Given the description of an element on the screen output the (x, y) to click on. 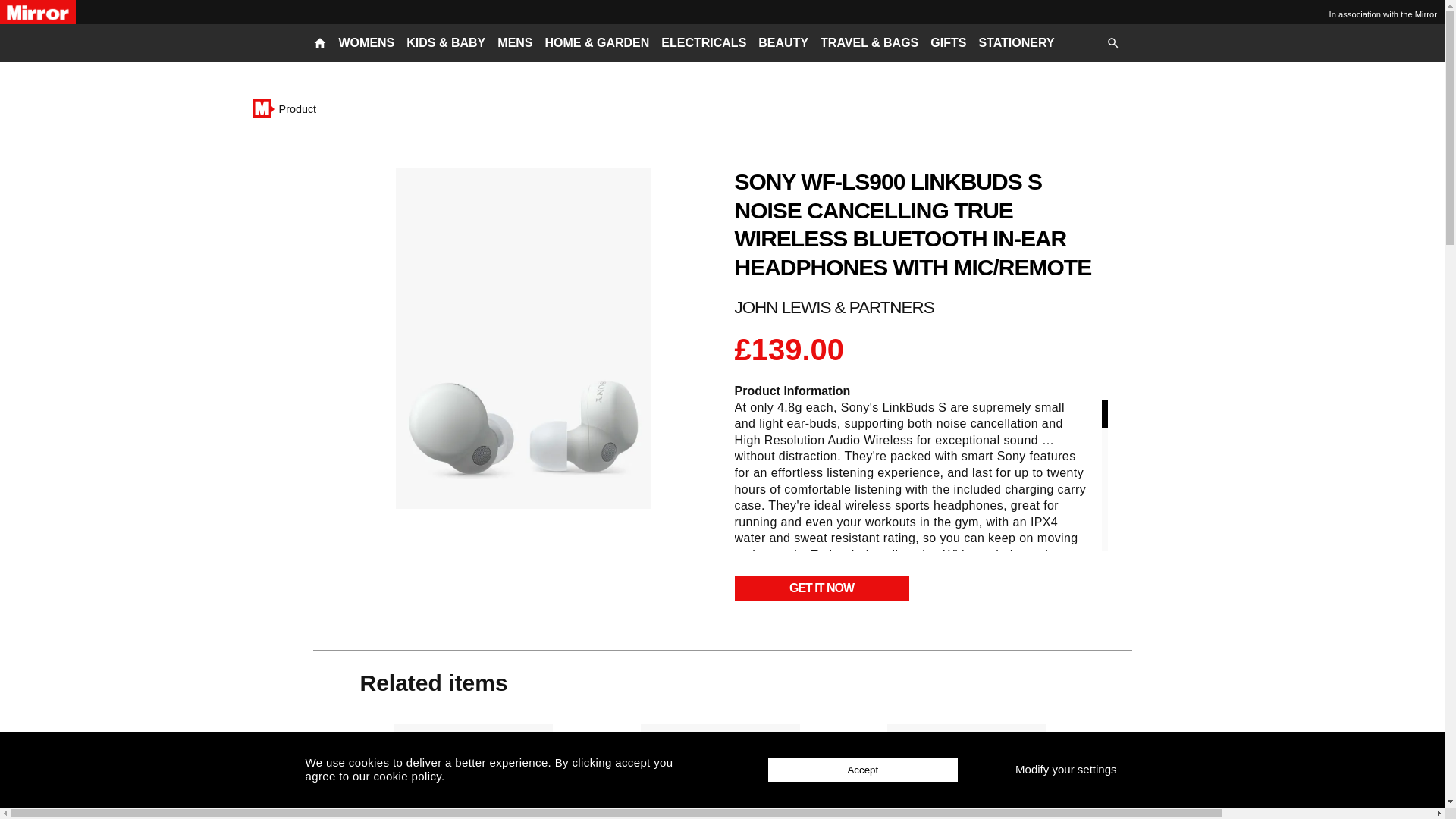
GIFTS (948, 43)
Accept (863, 770)
MENS (514, 43)
STATIONERY (1016, 43)
ELECTRICALS (703, 43)
WOMENS (365, 43)
Home (260, 107)
GET IT NOW (820, 588)
BEAUTY (783, 43)
